Given the description of an element on the screen output the (x, y) to click on. 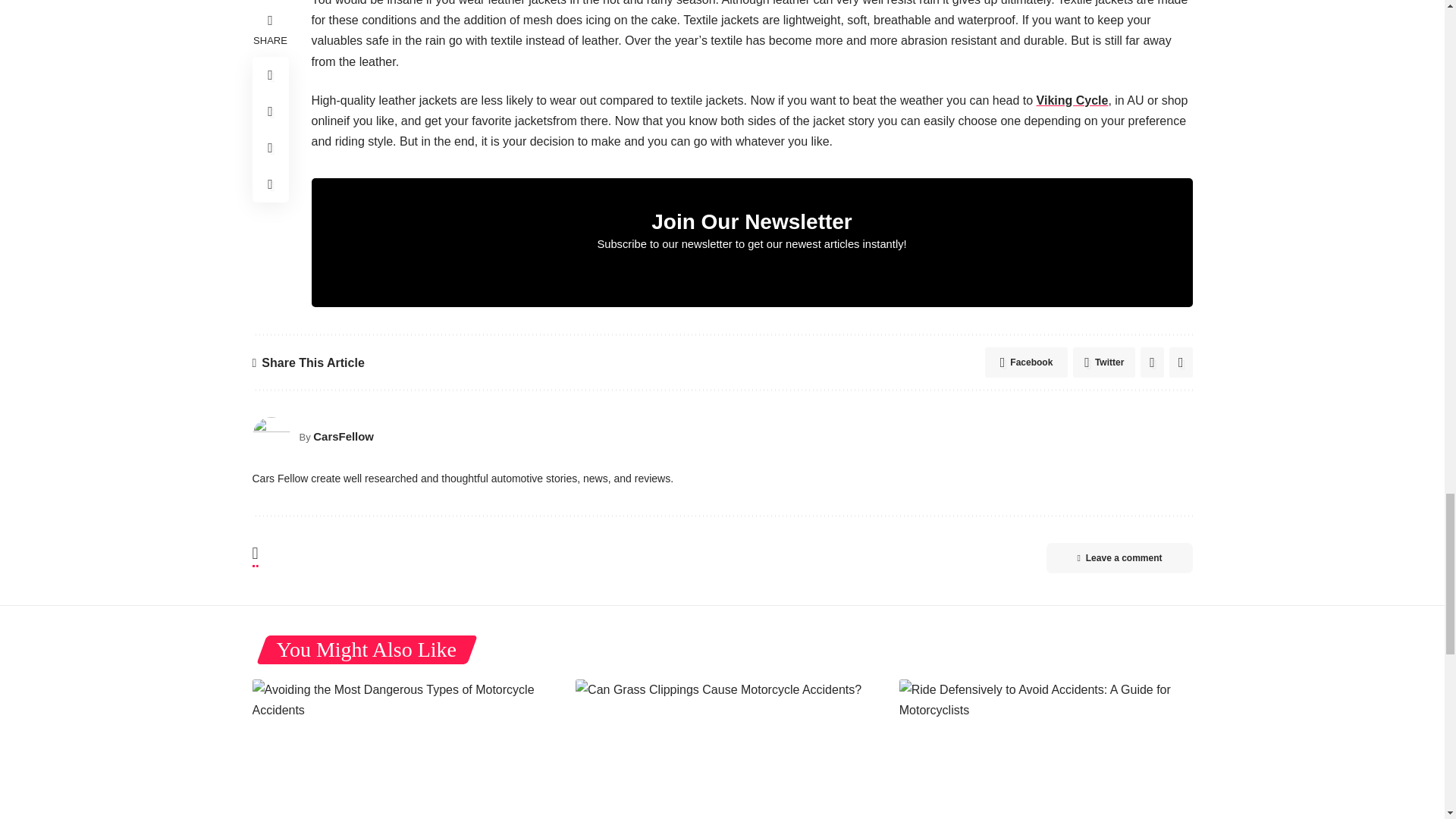
Can Grass Clippings Cause Motorcycle Accidents? (722, 749)
Avoiding The Most Dangerous Types Of Motorcycle Accidents (397, 749)
